Given the description of an element on the screen output the (x, y) to click on. 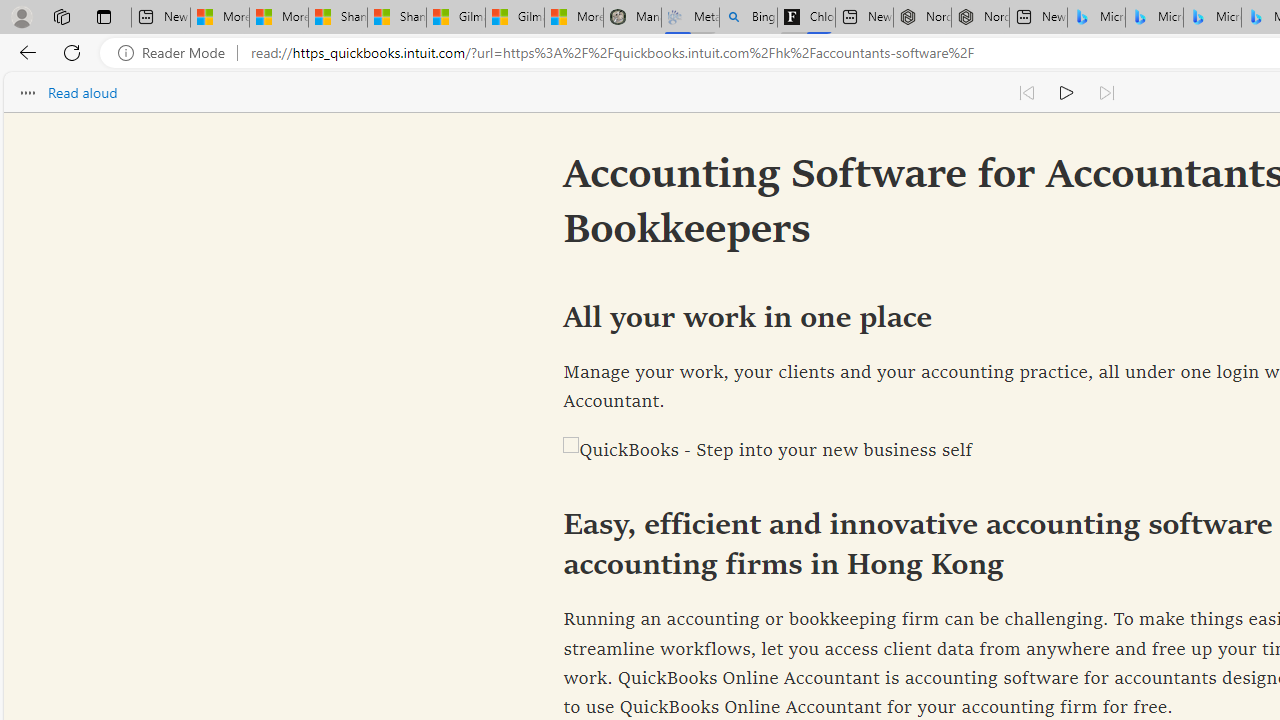
Read previous paragraph (1026, 92)
Read next paragraph (1105, 92)
Manatee Mortality Statistics | FWC (632, 17)
Reader Mode (177, 53)
Chloe Sorvino (806, 17)
Microsoft Bing Travel - Stays in Bangkok, Bangkok, Thailand (1154, 17)
